Given the description of an element on the screen output the (x, y) to click on. 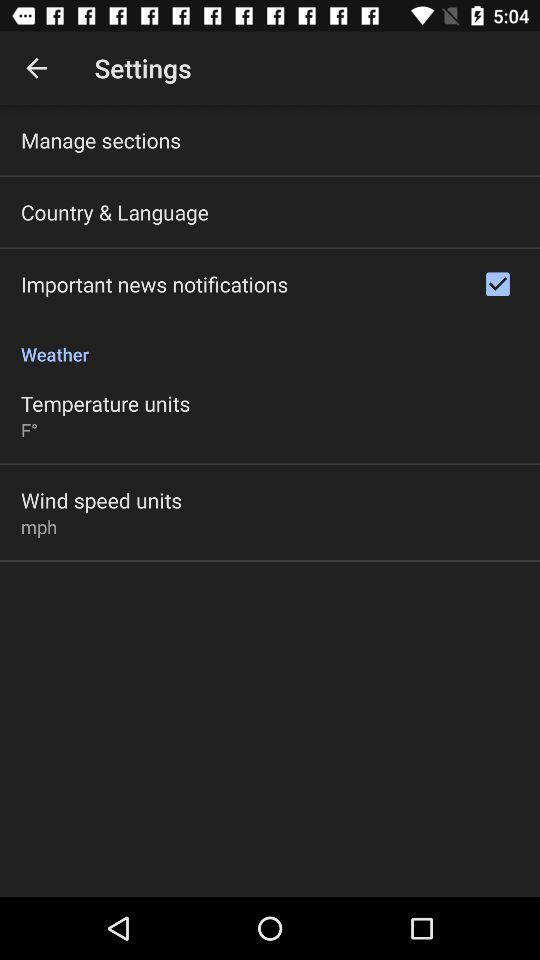
select country & language (114, 211)
